Given the description of an element on the screen output the (x, y) to click on. 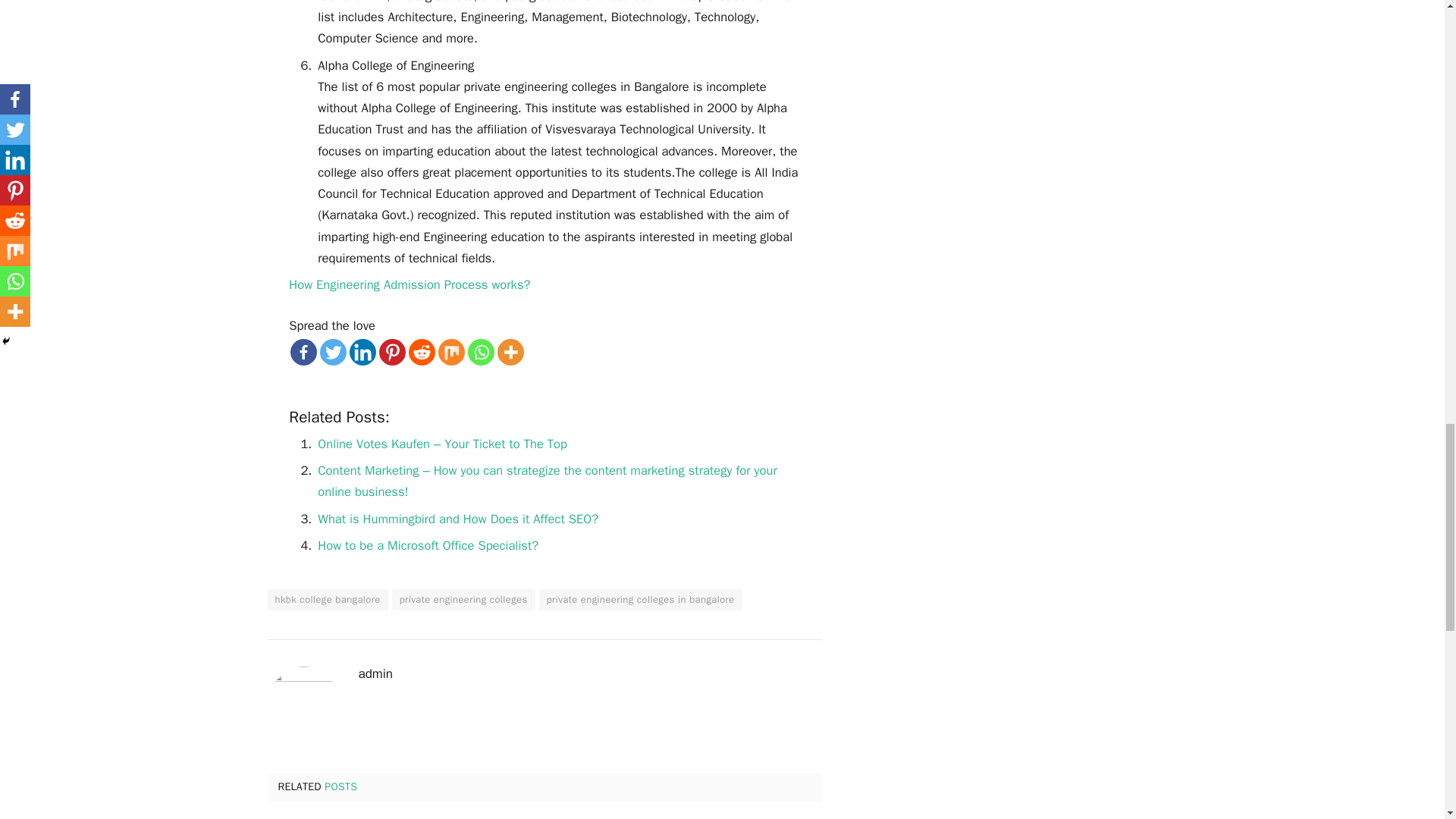
Linkedin (362, 352)
Pinterest (392, 352)
Twitter (333, 352)
Facebook (303, 352)
